Given the description of an element on the screen output the (x, y) to click on. 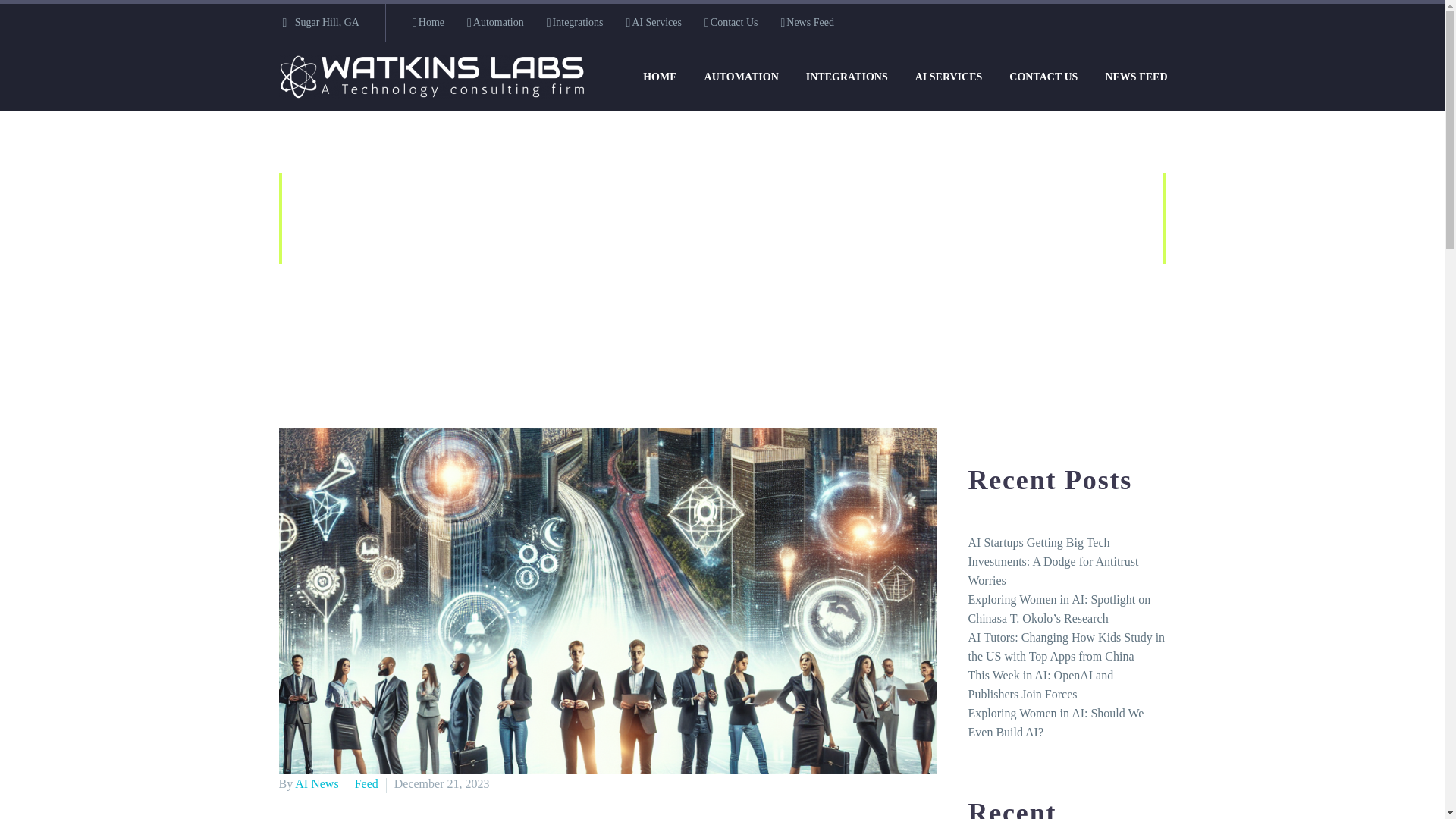
HOME (659, 76)
Home (428, 22)
AI SERVICES (949, 76)
Automation (495, 22)
Home (581, 304)
Feed (366, 783)
INTEGRATIONS (846, 76)
Contact Us (730, 22)
AI News (316, 783)
Feed (637, 304)
